Given the description of an element on the screen output the (x, y) to click on. 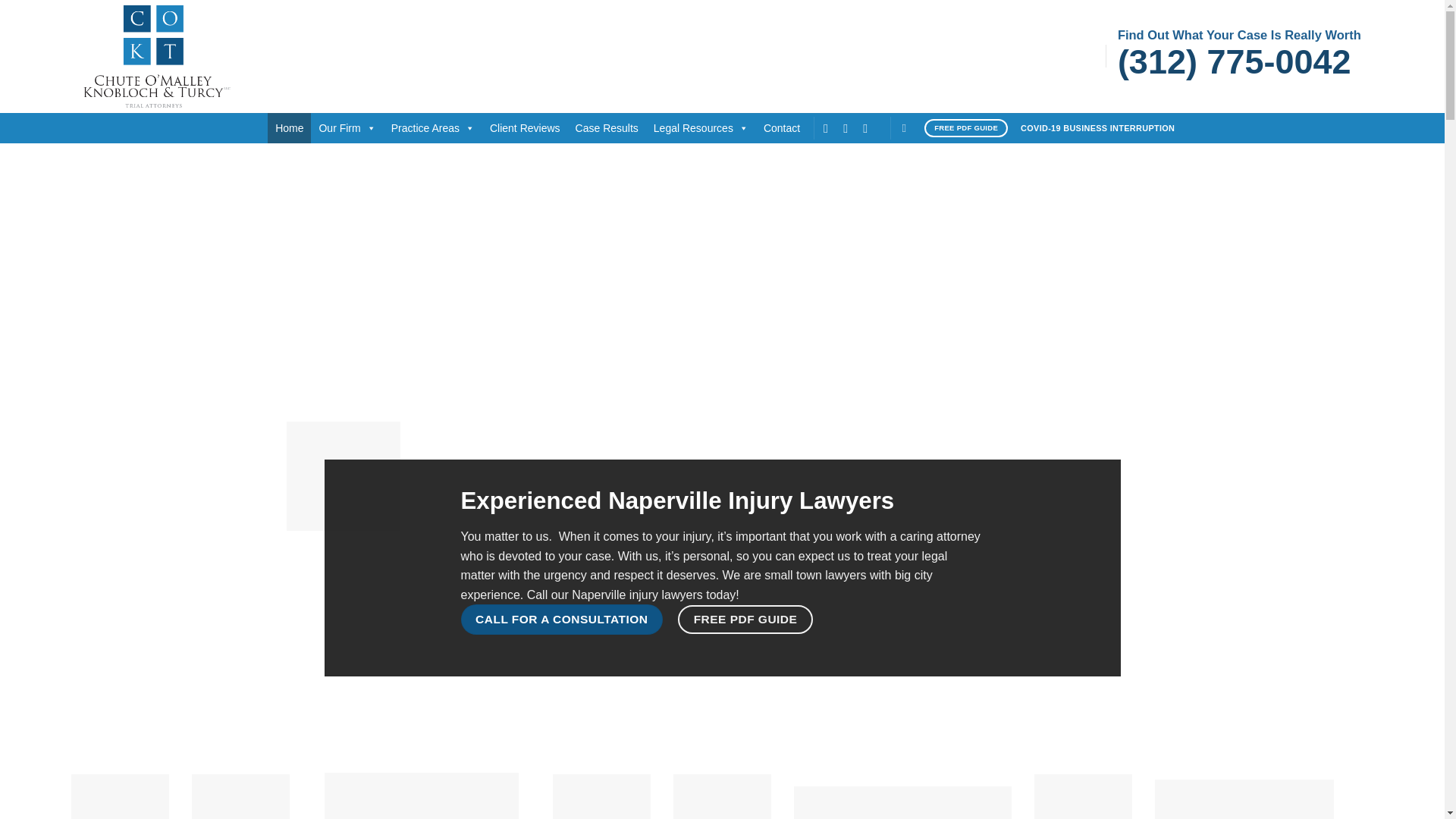
Client Reviews (524, 128)
Follow on Facebook (829, 128)
Case Results (606, 128)
Home (289, 128)
Milli Advocates (119, 796)
Legal Resources (700, 128)
Find Out What Your Case Is Really Worth (1239, 35)
Follow on LinkedIn (849, 128)
NTL 40under40 (240, 796)
Our Firm (346, 128)
colin (721, 796)
Follow on YouTube (869, 128)
logo squares (343, 475)
National Trial lawyers (421, 796)
thomas (601, 796)
